Given the description of an element on the screen output the (x, y) to click on. 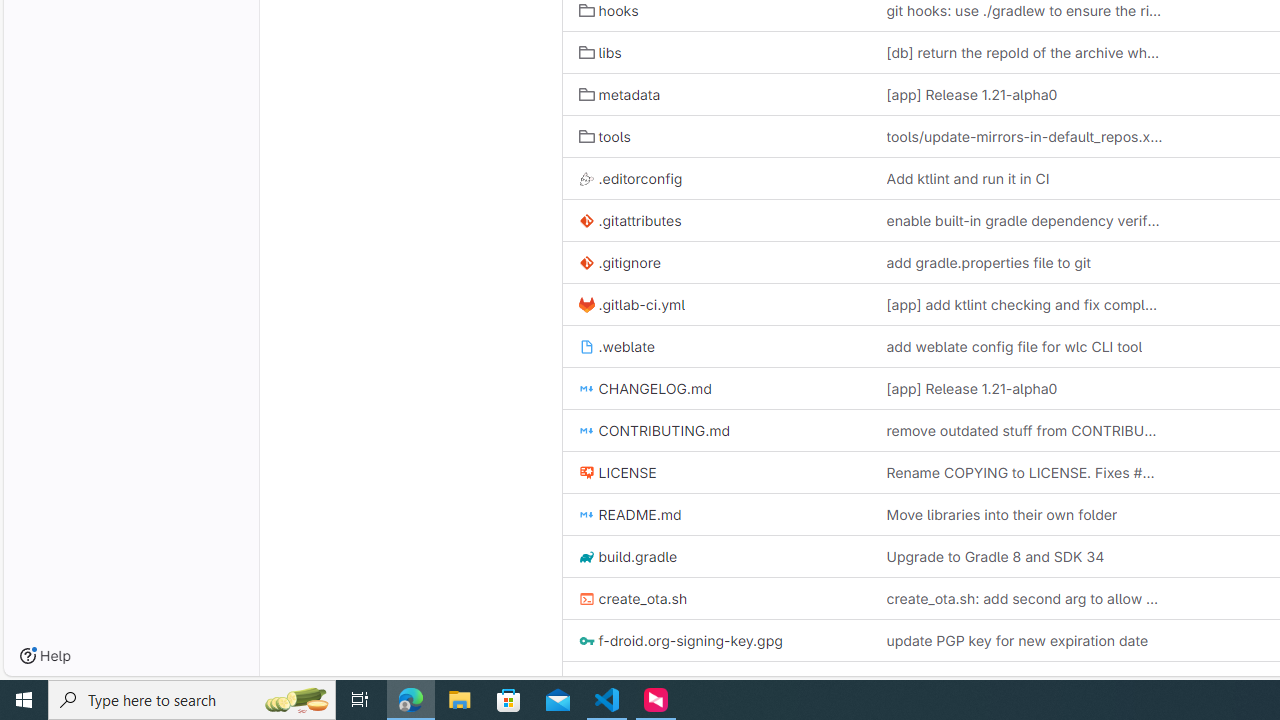
Rename COPYING to LICENSE. Fixes #384 (1024, 471)
hooks (608, 11)
CONTRIBUTING.md (654, 430)
Add ktlint and run it in CI (967, 178)
LICENSE (715, 471)
libs (715, 52)
.gitattributes (715, 219)
.gitlab-ci.yml (715, 304)
remove outdated stuff from CONTRIBUTING.md (1024, 430)
Upgrade to Gradle 8 and SDK 34 (1024, 556)
Move libraries into their own folder (1024, 514)
.editorconfig (630, 178)
.weblate (715, 345)
metadata (715, 93)
